Given the description of an element on the screen output the (x, y) to click on. 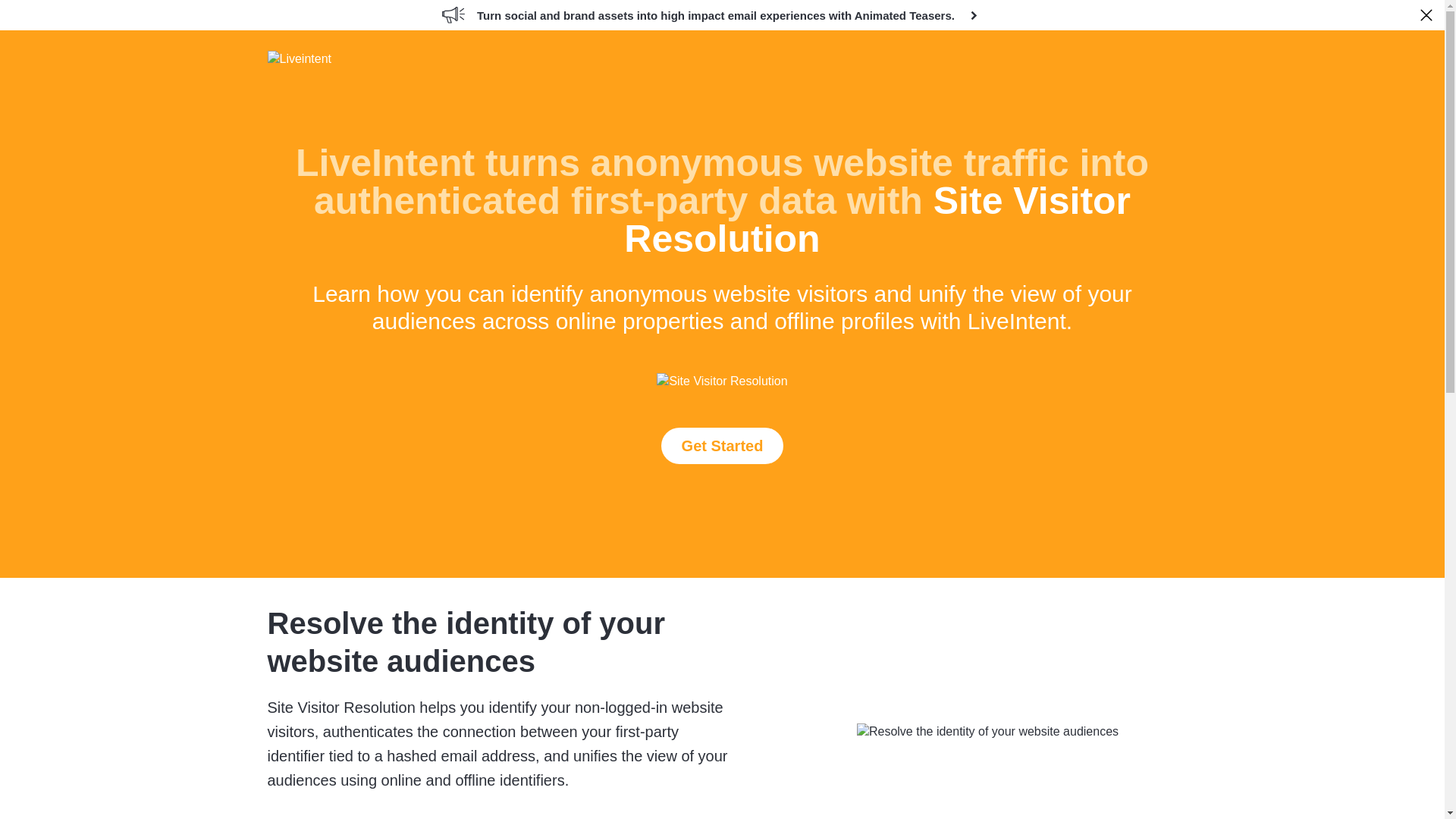
Get Started (722, 445)
